Given the description of an element on the screen output the (x, y) to click on. 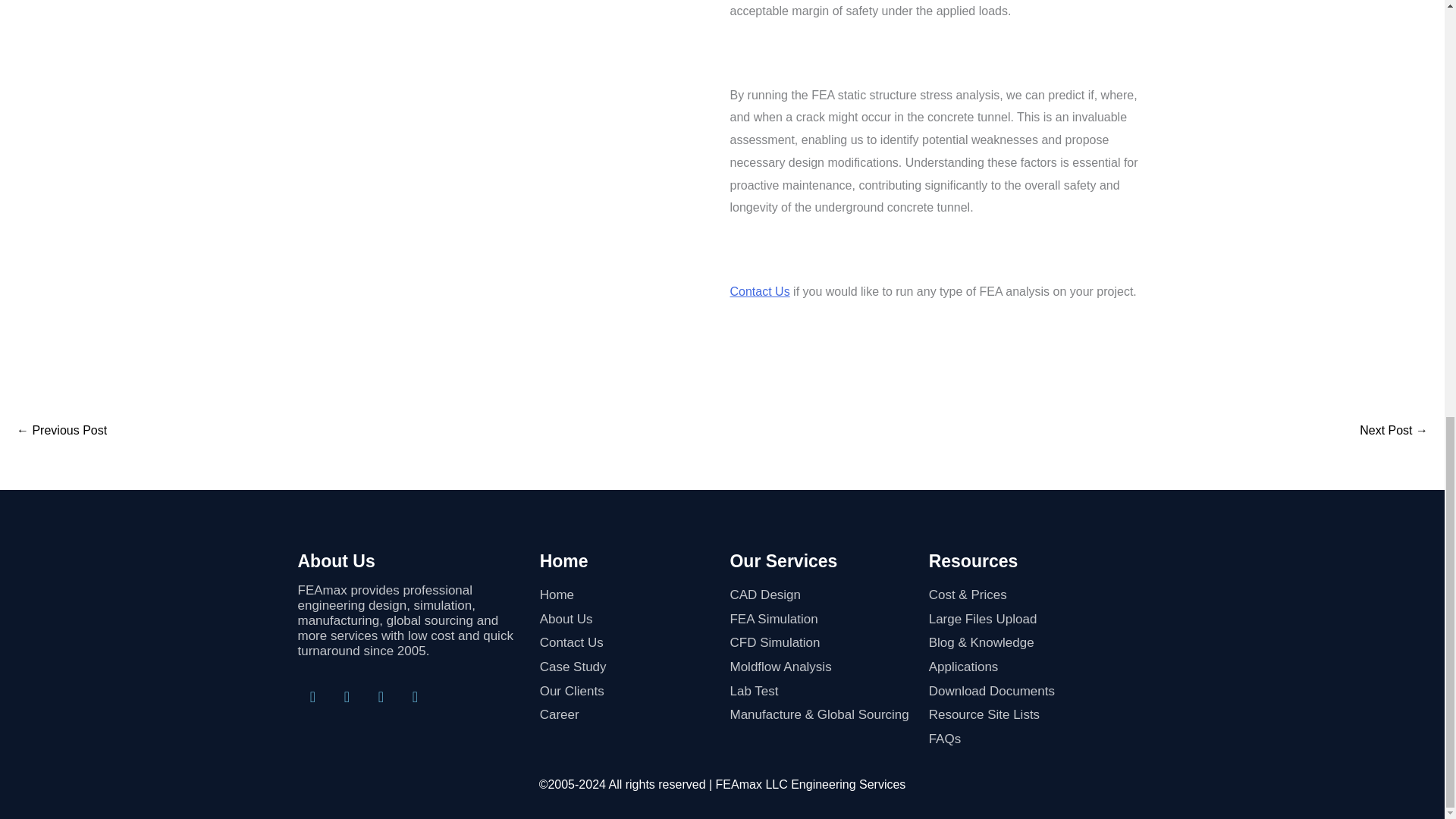
Crack Propagation Analysis on Engine (61, 430)
FEA Structure Stress Analysis on Bladder Mold (1393, 430)
